Given the description of an element on the screen output the (x, y) to click on. 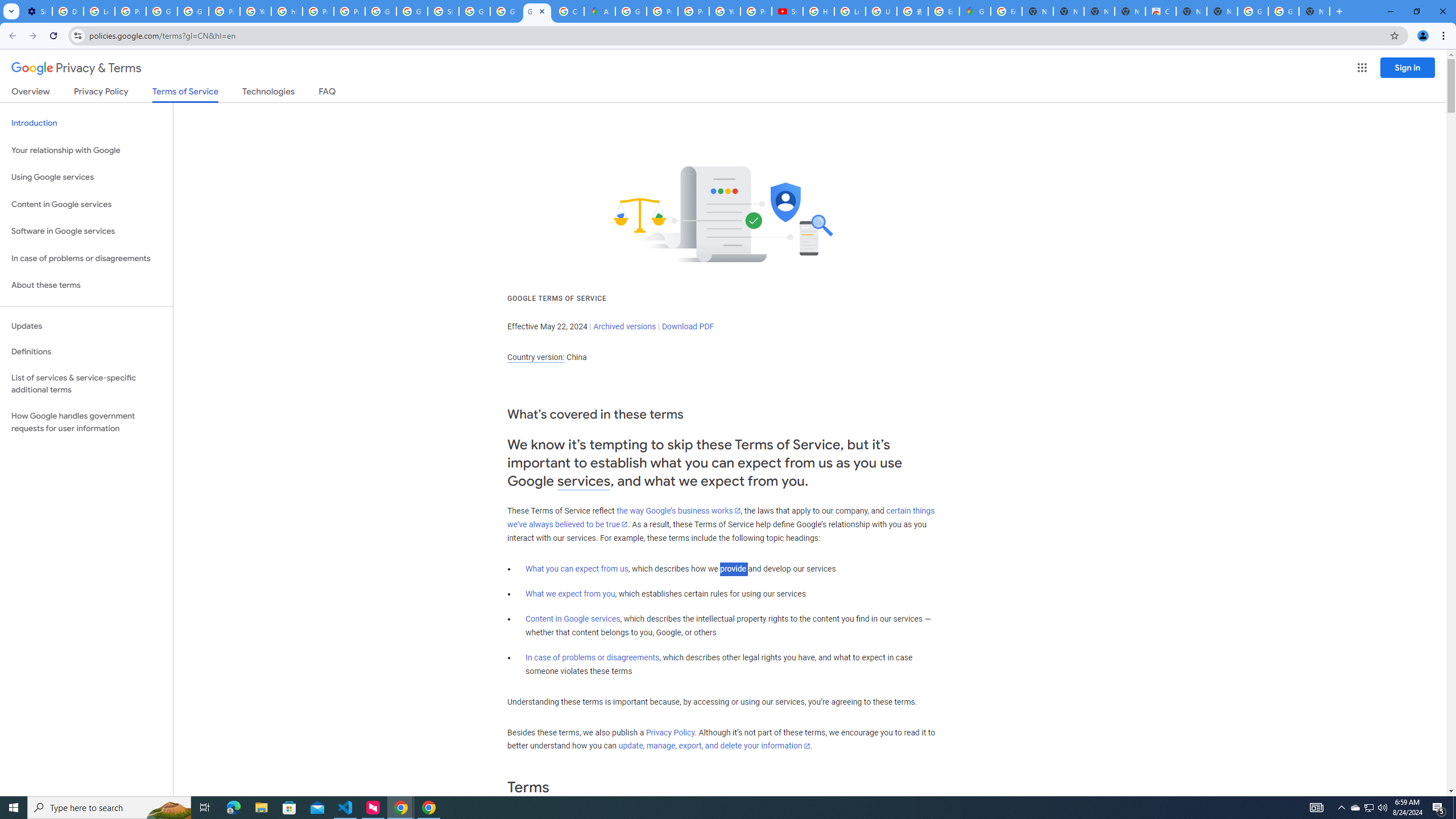
Chrome Web Store (1160, 11)
Your relationship with Google (86, 150)
YouTube (255, 11)
Create your Google Account (568, 11)
Delete photos & videos - Computer - Google Photos Help (67, 11)
In case of problems or disagreements (592, 657)
What we expect from you (570, 593)
